Given the description of an element on the screen output the (x, y) to click on. 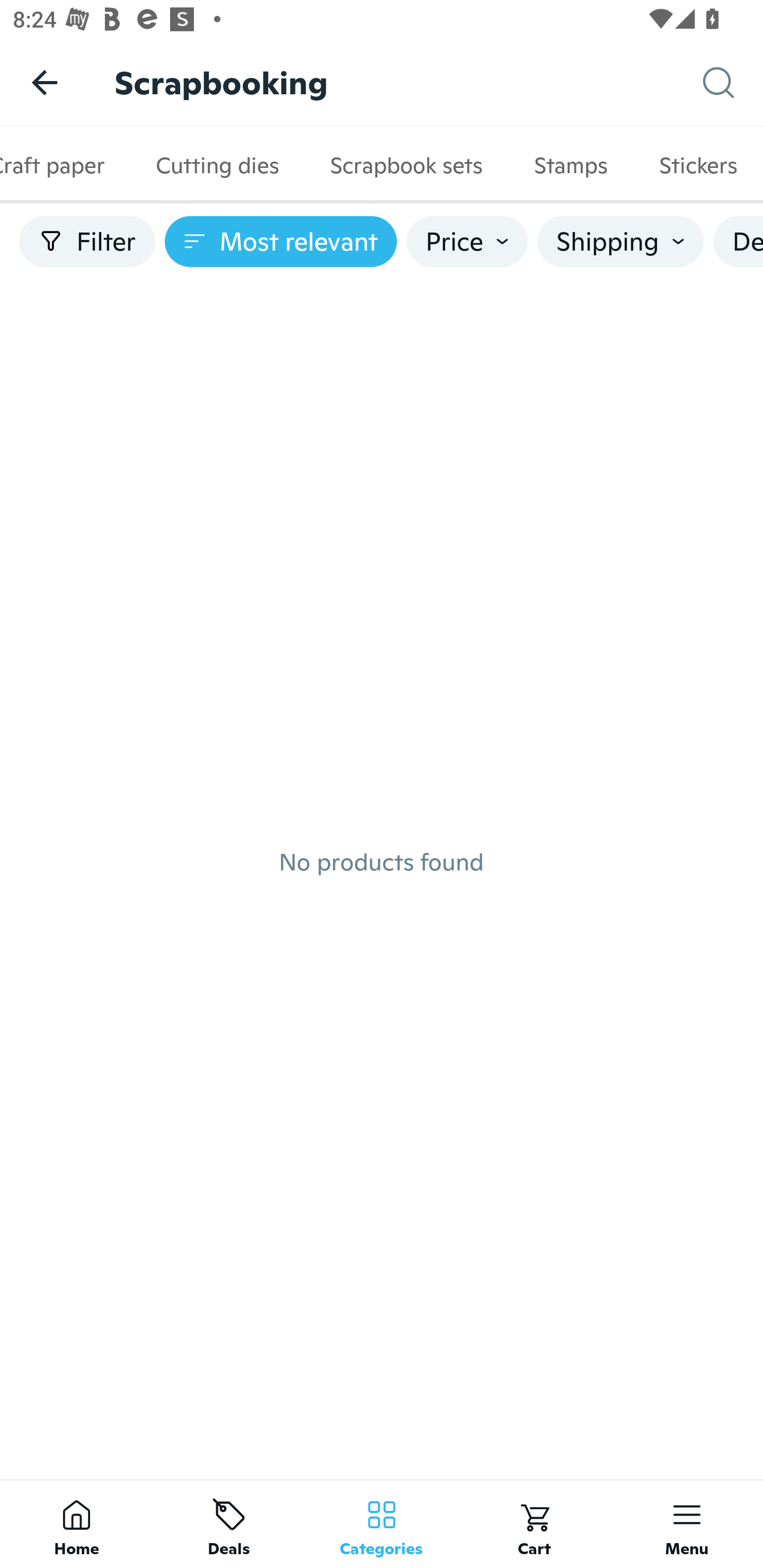
Navigate up (44, 82)
Search (732, 82)
Craft paper (64, 165)
Cutting dies (216, 165)
Scrapbook sets (406, 165)
Stamps (570, 165)
Stickers (698, 165)
Filter (86, 241)
Most relevant (280, 241)
Price (466, 241)
Shipping (620, 241)
Home (76, 1523)
Deals (228, 1523)
Categories (381, 1523)
Cart (533, 1523)
Menu (686, 1523)
